Given the description of an element on the screen output the (x, y) to click on. 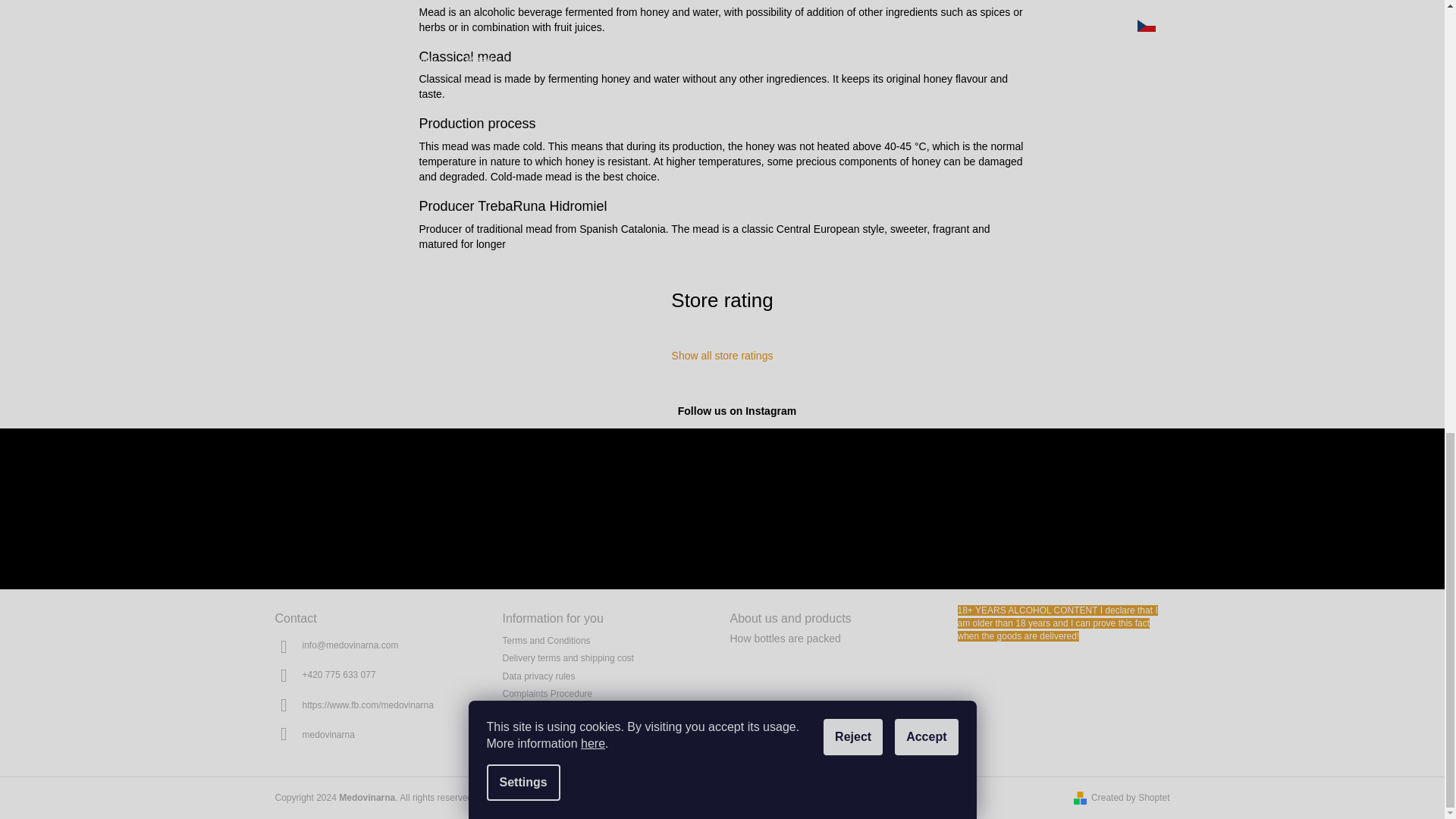
Facebook (366, 704)
Instagram (327, 734)
Phone (338, 674)
